Given the description of an element on the screen output the (x, y) to click on. 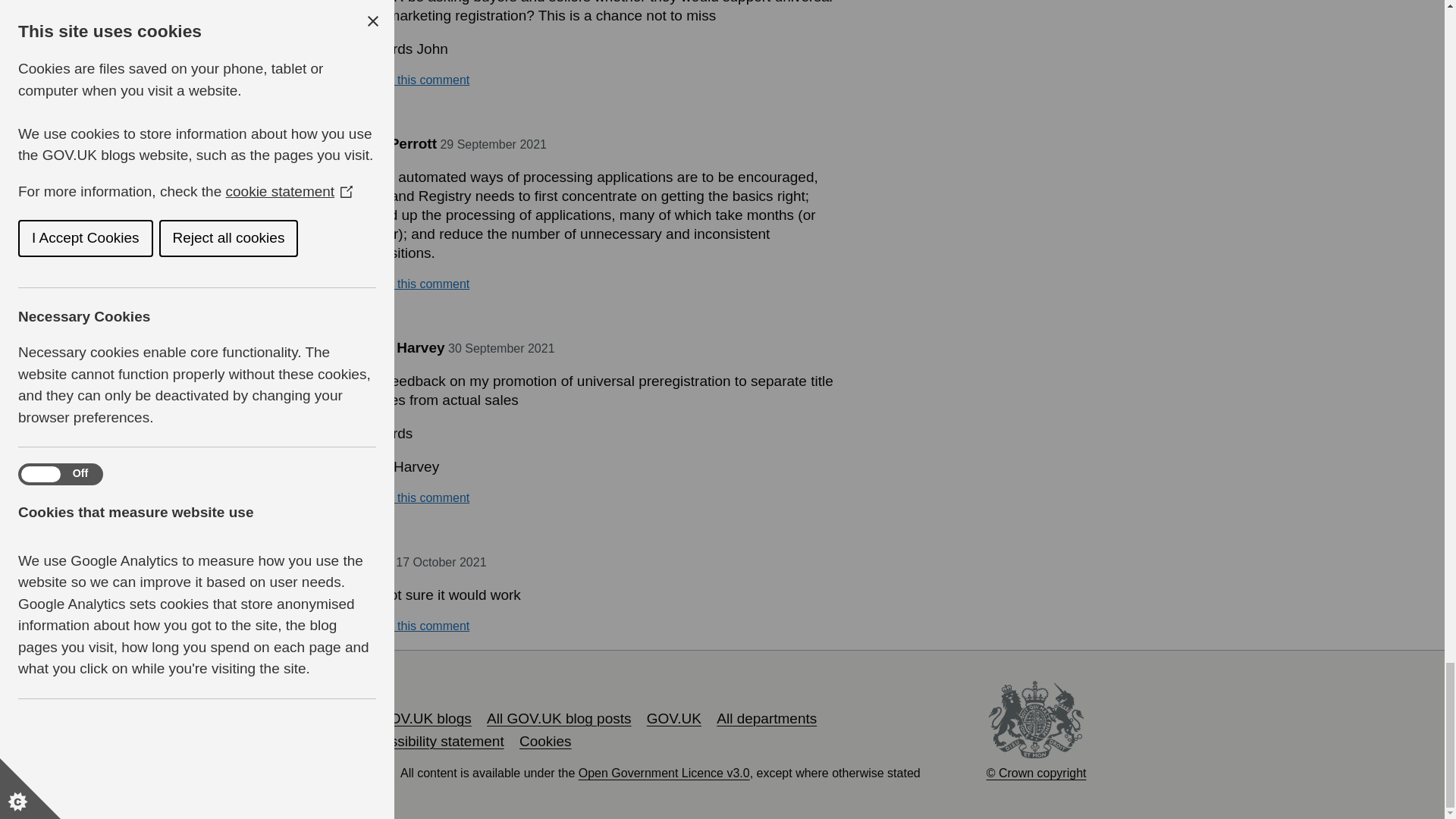
Link to this comment (413, 498)
Link to this comment (413, 283)
Link to this comment (413, 79)
Link to this comment (413, 626)
